Given the description of an element on the screen output the (x, y) to click on. 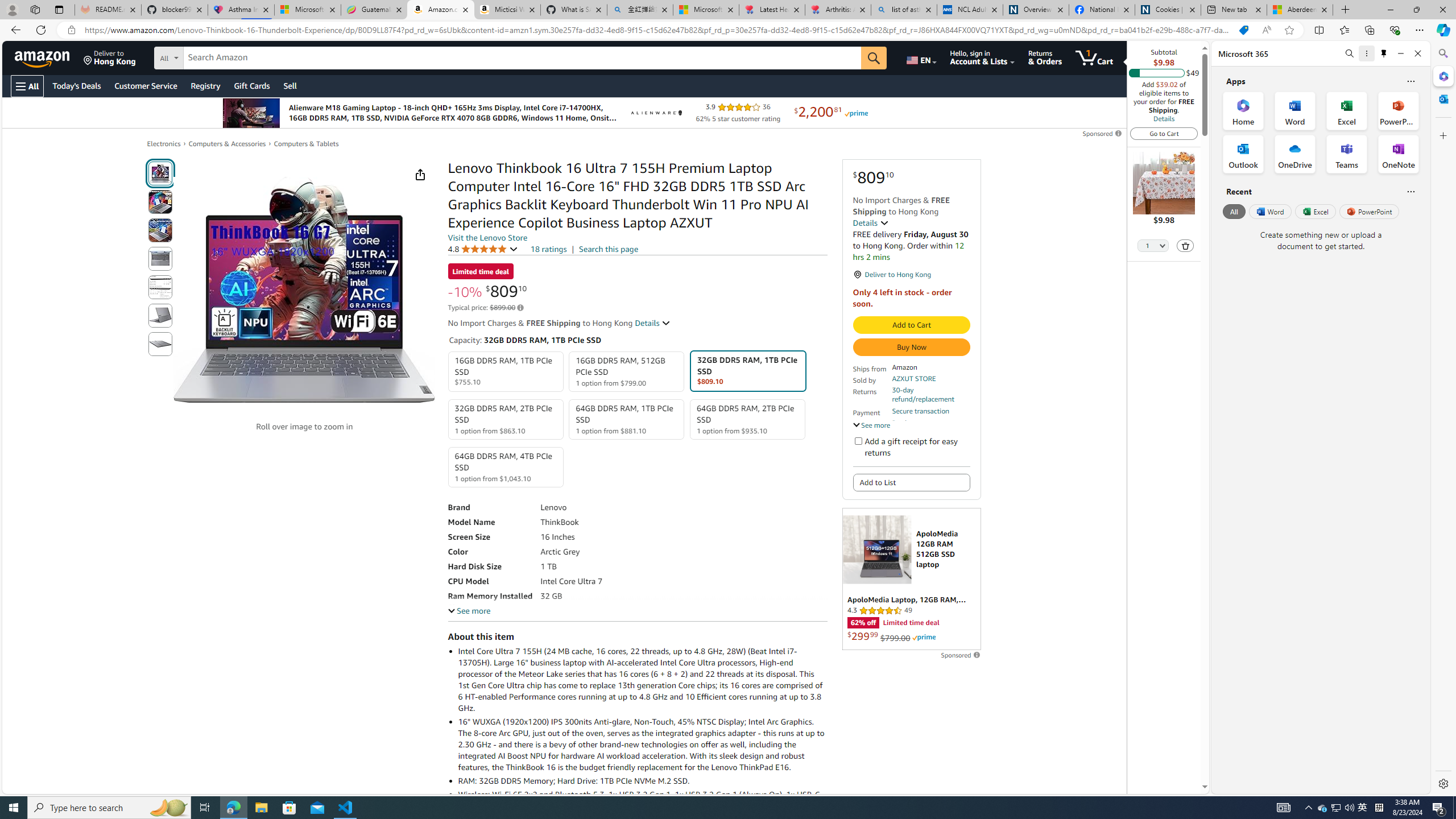
Computers & Accessories (226, 143)
4.8 4.8 out of 5 stars (482, 248)
64GB DDR5 RAM, 1TB PCIe SSD 1 option from $881.10 (626, 418)
